Given the description of an element on the screen output the (x, y) to click on. 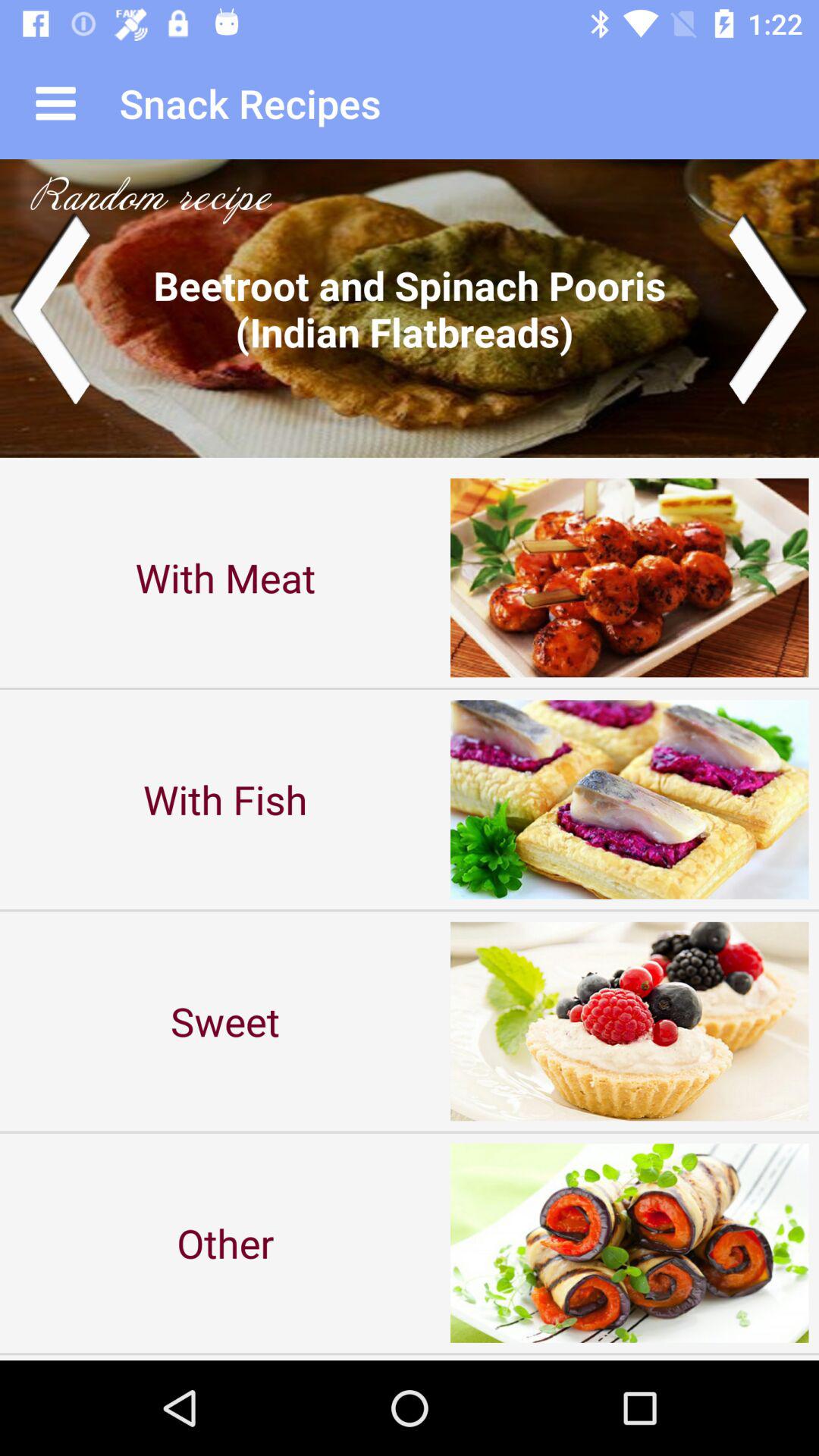
launch icon below with fish (225, 1020)
